Given the description of an element on the screen output the (x, y) to click on. 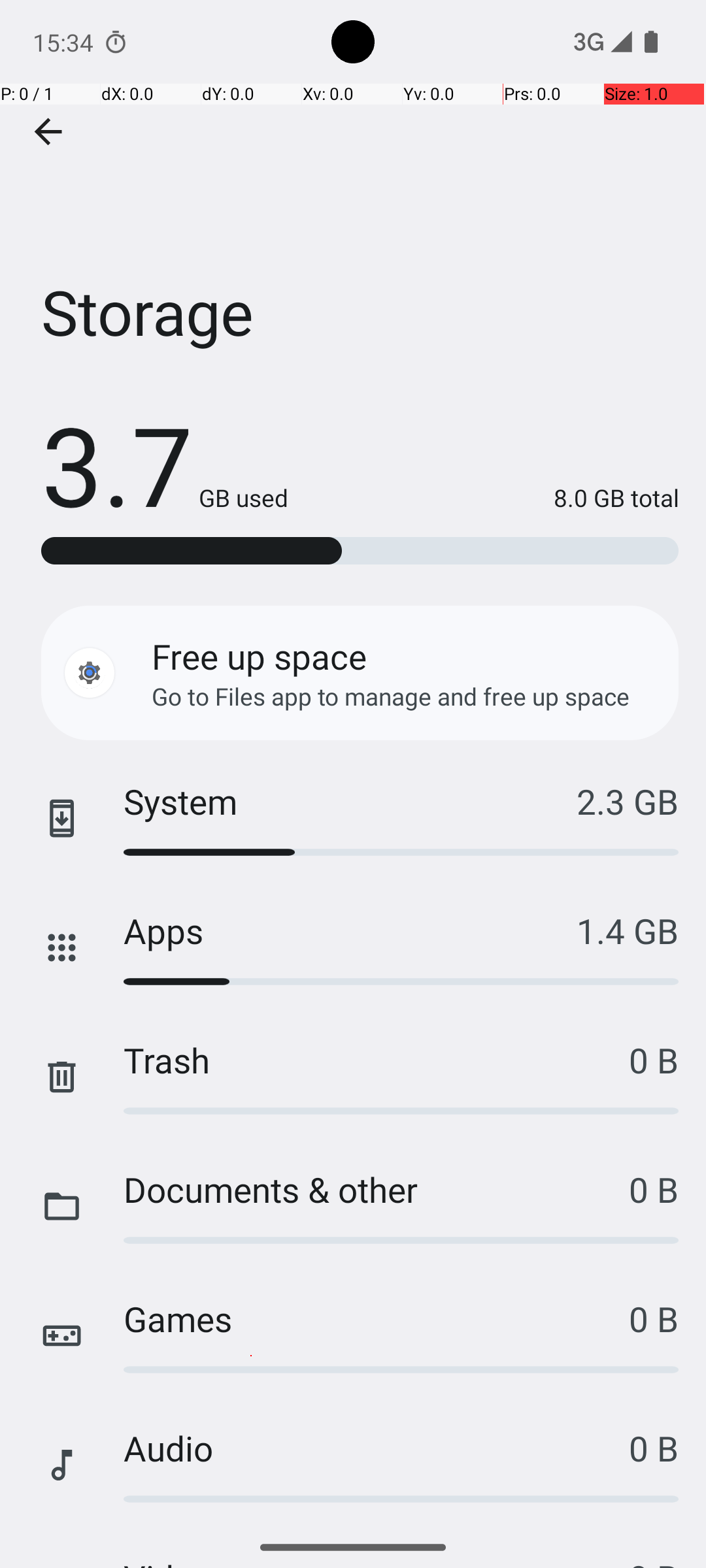
3.7 GB used Element type: android.widget.TextView (164, 463)
